Given the description of an element on the screen output the (x, y) to click on. 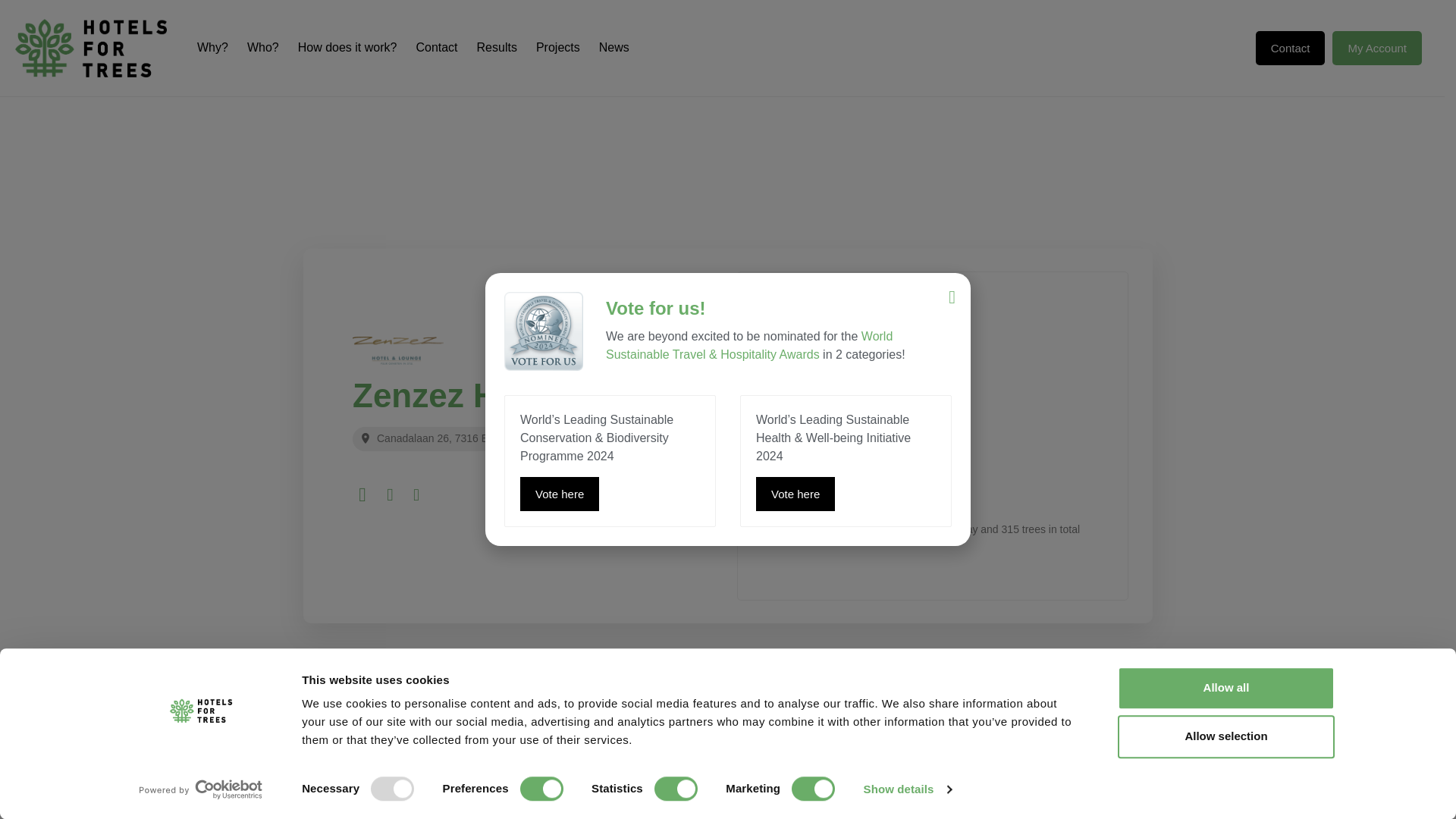
Results (496, 47)
News (613, 47)
Allow all (1226, 688)
Why? (212, 47)
Contact (435, 47)
Show details (907, 789)
How does it work? (347, 47)
Allow selection (1226, 736)
Projects (557, 47)
Who? (263, 47)
